Given the description of an element on the screen output the (x, y) to click on. 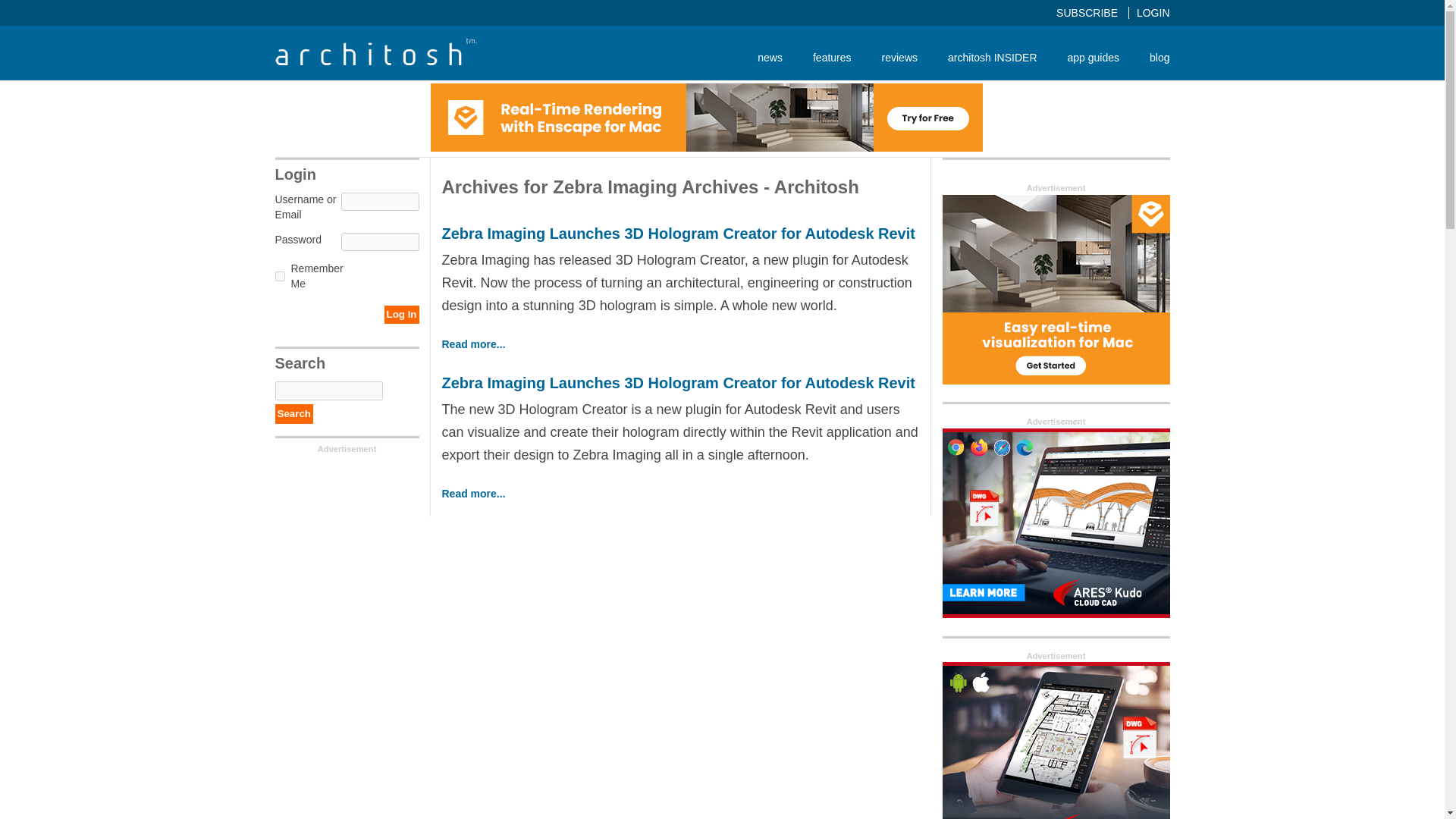
Log In (401, 314)
Read more... (473, 344)
Read more... (473, 493)
app guides (1093, 56)
Search (294, 414)
Architosh (375, 51)
LOGIN (1153, 12)
architosh INSIDER (992, 56)
forever (279, 276)
blog (1151, 56)
